Given the description of an element on the screen output the (x, y) to click on. 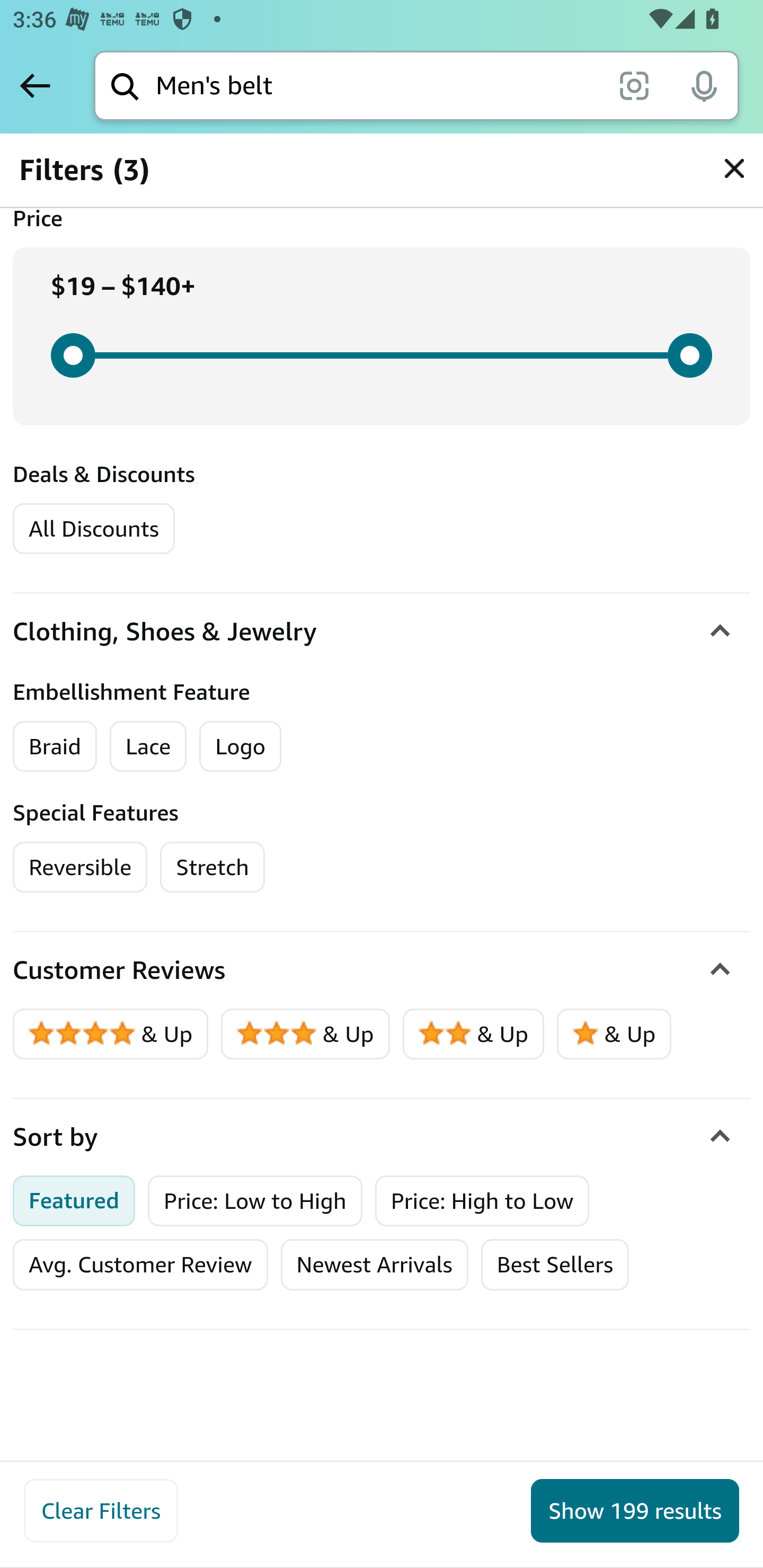
Back (35, 85)
scan it (633, 85)
Price & Deals (381, 165)
All Discounts (93, 528)
Clothing, Shoes & Jewelry (381, 631)
Braid (55, 746)
Lace (148, 746)
Logo (240, 746)
Reversible (80, 866)
Stretch (211, 866)
Customer Reviews (381, 970)
4 Stars & Up (110, 1033)
3 Stars & Up (305, 1033)
2 Stars & Up (473, 1033)
1 Star & Up (614, 1033)
Sort by (381, 1136)
Price: Low to High (255, 1200)
Price: High to Low (481, 1200)
Avg. Customer Review (140, 1264)
Newest Arrivals (374, 1264)
Best Sellers (554, 1264)
Clear Filters (100, 1510)
Show 199 results (635, 1510)
